Given the description of an element on the screen output the (x, y) to click on. 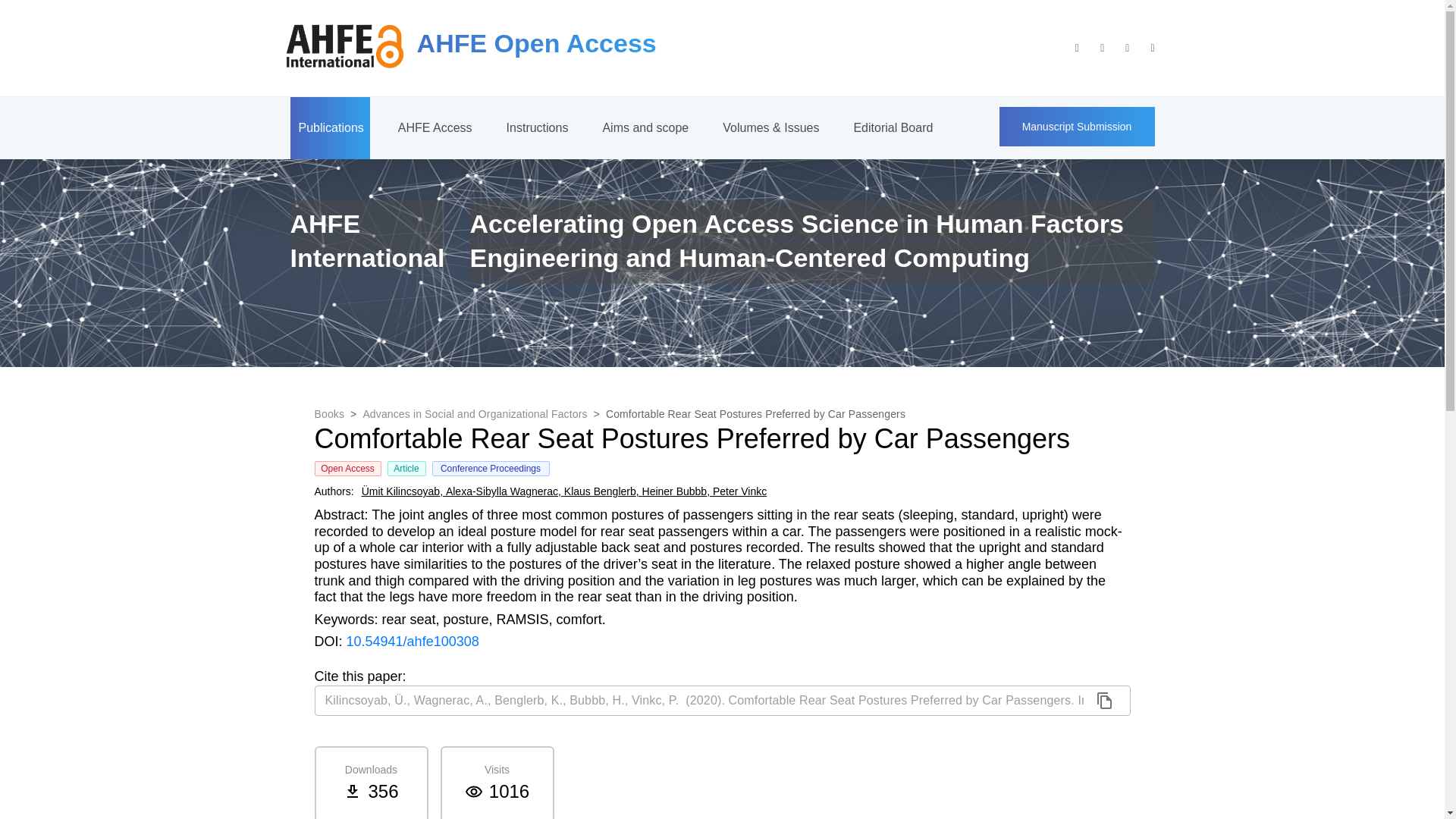
Books (328, 413)
Advances in Social and Organizational Factors (474, 413)
Editorial Board (891, 127)
AHFE Access (434, 127)
Publications (329, 127)
Aims and scope (644, 127)
Instructions (536, 127)
Manuscript Submission (1076, 125)
